Given the description of an element on the screen output the (x, y) to click on. 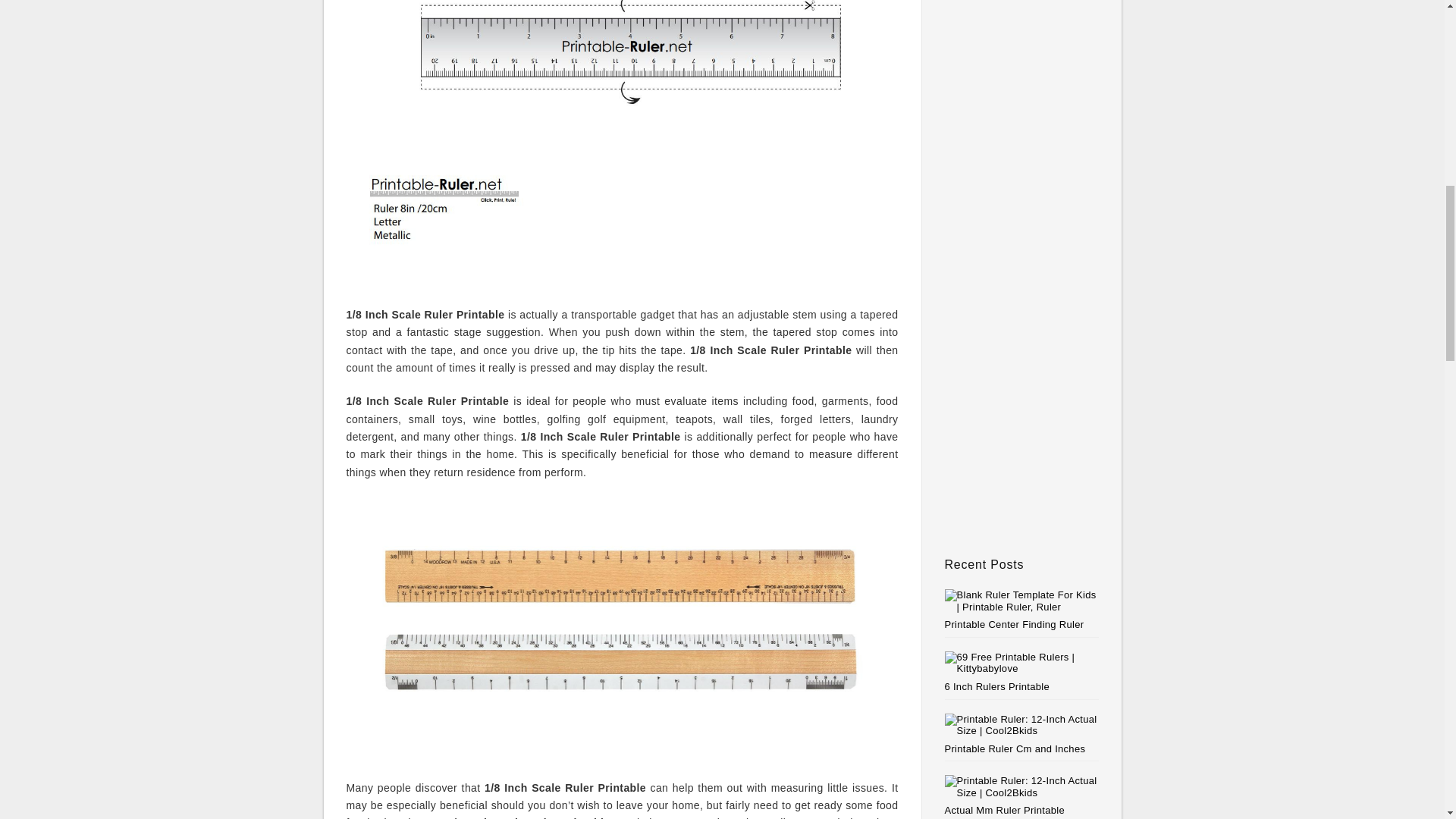
Printable Ruler Cm and Inches (1015, 748)
Actual Mm Ruler Printable (1004, 809)
Printable Center Finding Ruler (1014, 624)
6 Inch Rulers Printable (996, 686)
